Given the description of an element on the screen output the (x, y) to click on. 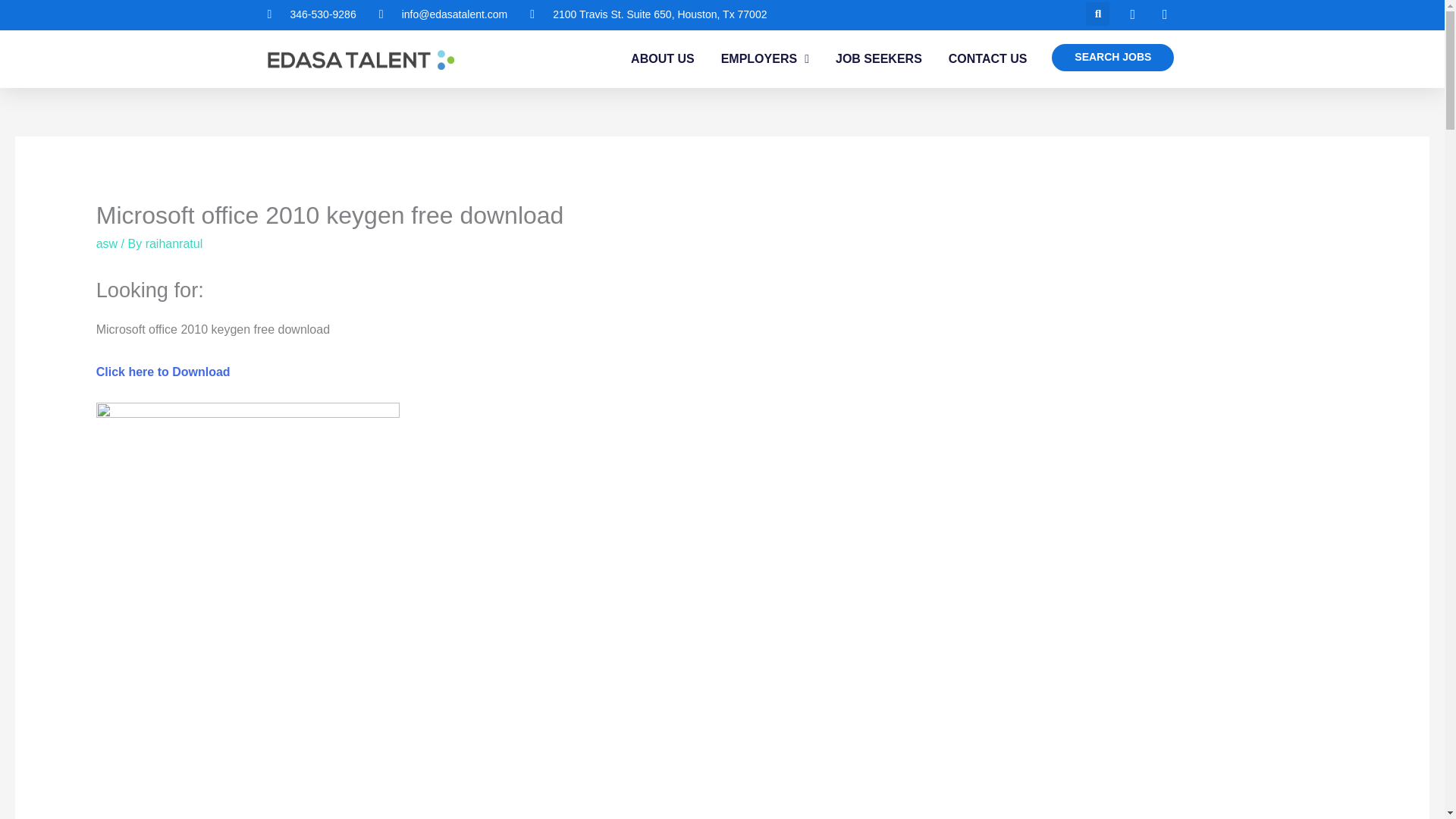
View all posts by raihanratul (174, 243)
346-530-9286 (310, 14)
raihanratul (174, 243)
CONTACT US (988, 58)
SEARCH JOBS (1112, 57)
JOB SEEKERS (878, 58)
asw (106, 243)
Click here to Download (163, 371)
EMPLOYERS (764, 58)
ABOUT US (662, 58)
